Given the description of an element on the screen output the (x, y) to click on. 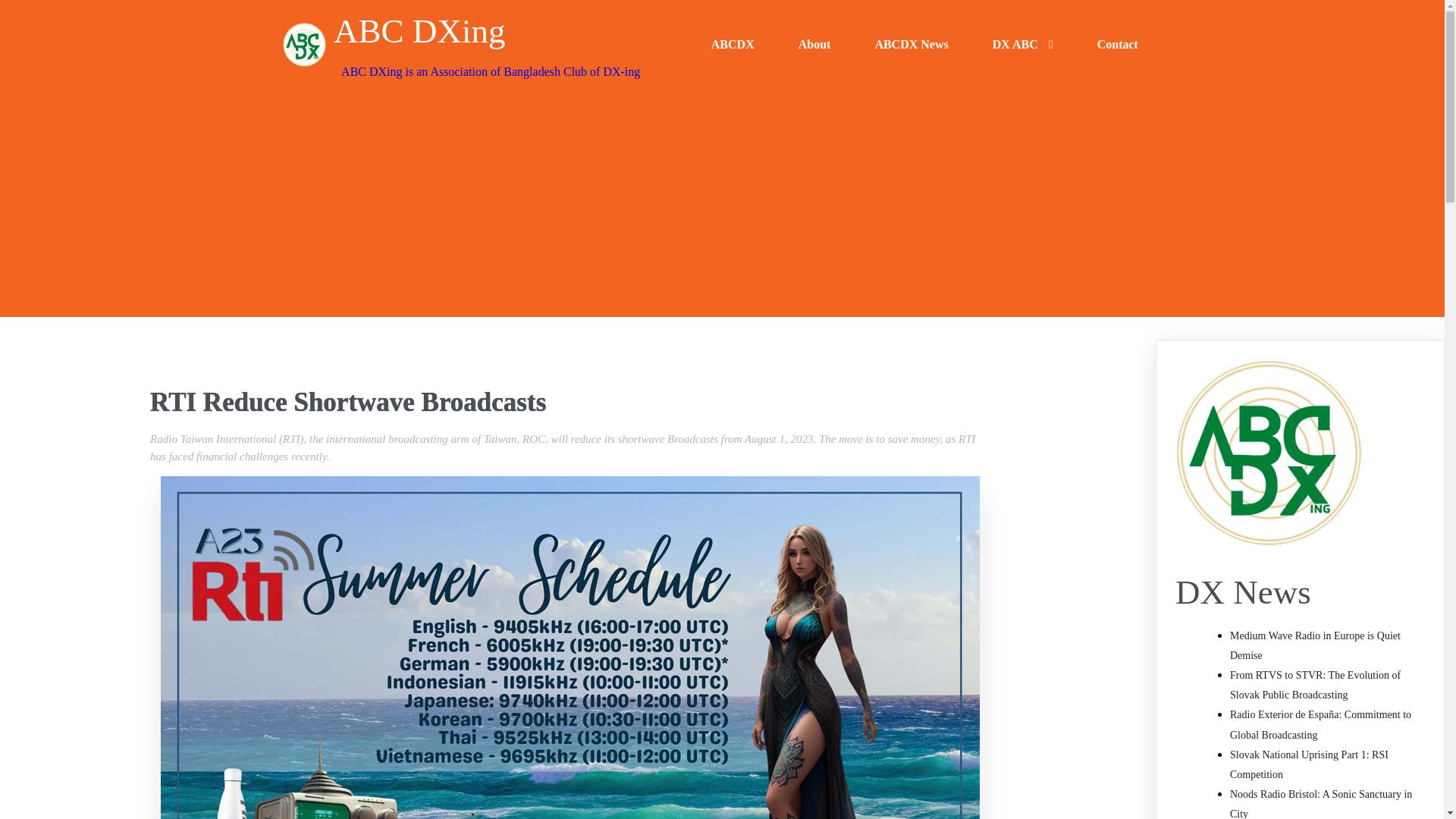
ABCDX (732, 44)
About (814, 44)
DX ABC (1023, 44)
Contact (1117, 44)
ABCDX News (910, 44)
